Given the description of an element on the screen output the (x, y) to click on. 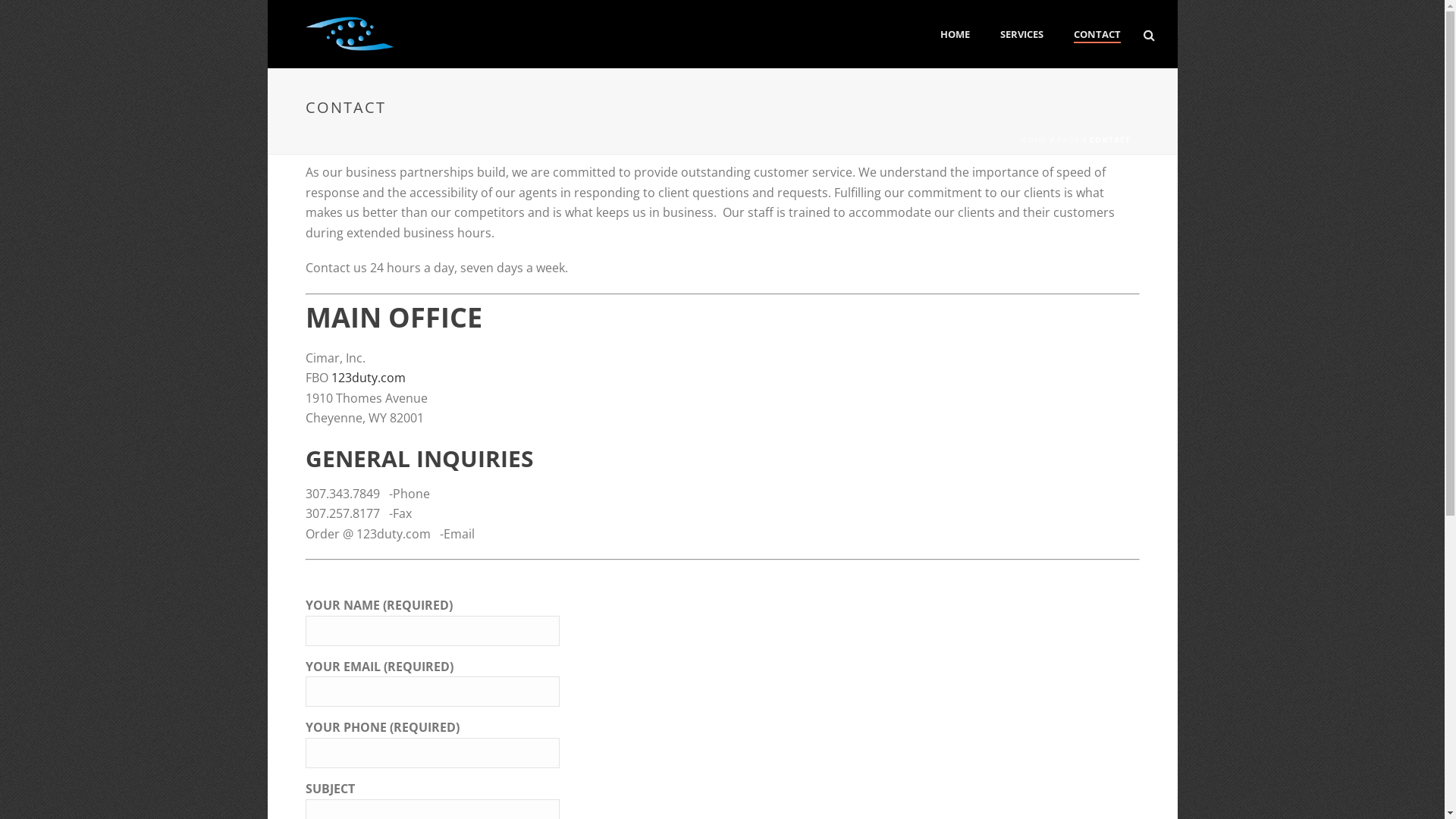
HOME Element type: text (1033, 139)
HOME Element type: text (955, 34)
PAGE Element type: text (1068, 139)
123duty.com Element type: text (367, 377)
SERVICES Element type: text (1020, 34)
CONTACT Element type: text (1096, 34)
